Given the description of an element on the screen output the (x, y) to click on. 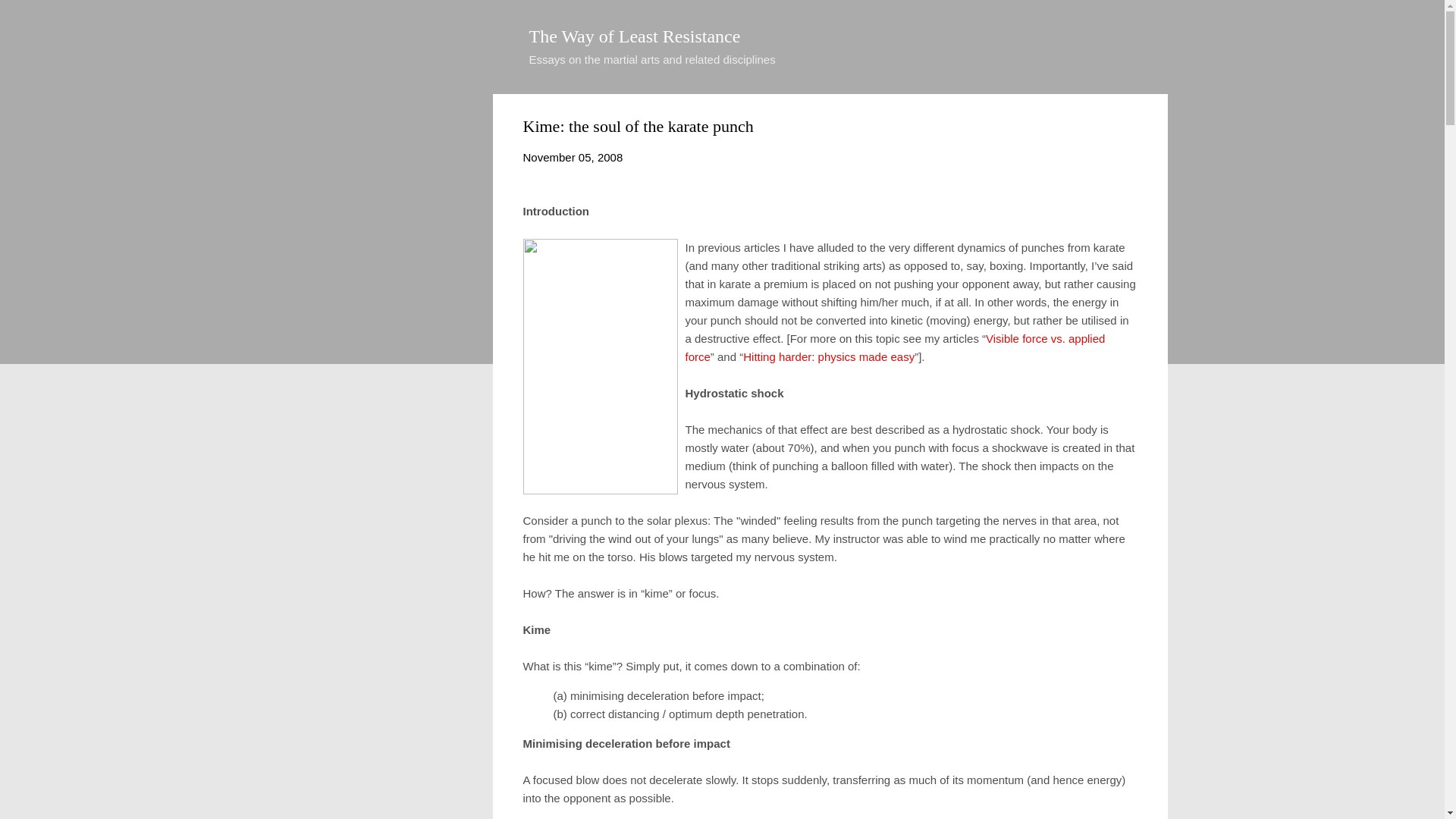
permanent link (572, 156)
Visible force vs. applied force (895, 347)
Hitting harder: physics made easy (828, 356)
The Way of Least Resistance (635, 35)
November 05, 2008 (572, 156)
Search (29, 18)
